Given the description of an element on the screen output the (x, y) to click on. 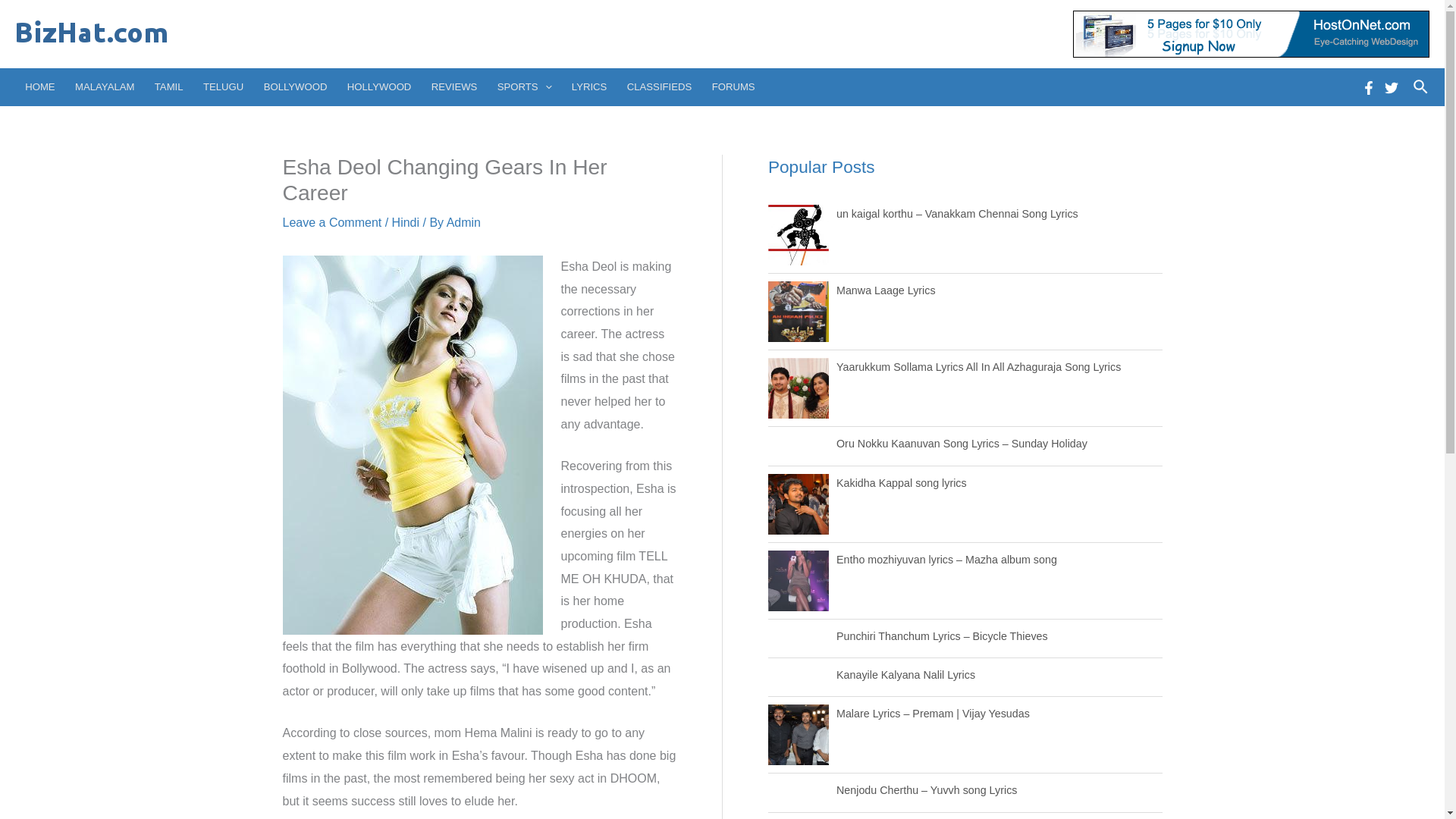
TAMIL (168, 86)
CLASSIFIEDS (659, 86)
View all posts by Admin (463, 222)
HOME (39, 86)
BOLLYWOOD (294, 86)
TELUGU (223, 86)
FORUMS (732, 86)
HOLLYWOOD (379, 86)
LYRICS (589, 86)
SPORTS (524, 86)
MALAYALAM (104, 86)
REVIEWS (454, 86)
